Given the description of an element on the screen output the (x, y) to click on. 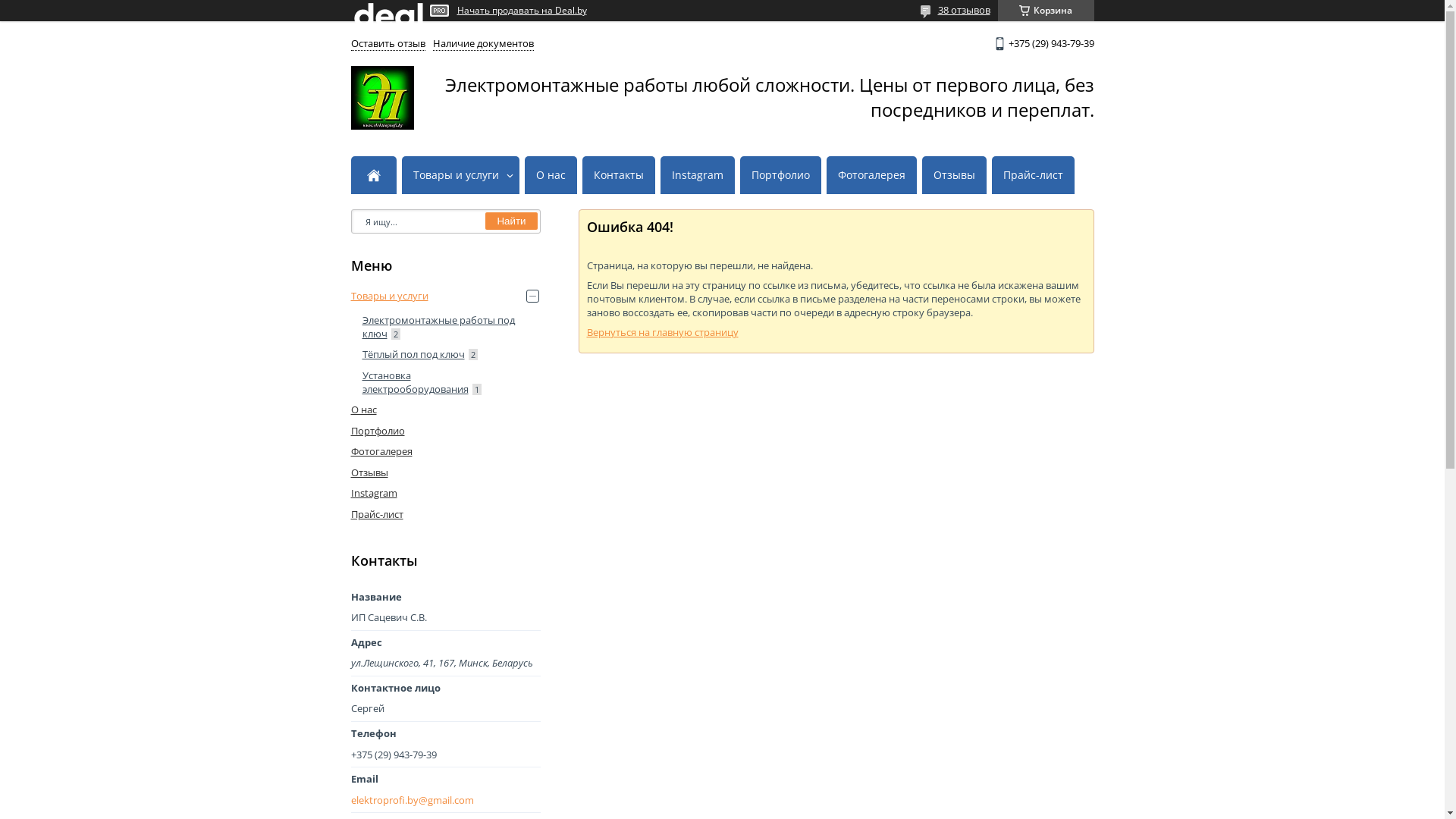
Instagram Element type: text (373, 492)
Instagram Element type: text (696, 175)
elektroprofi.by@gmail.com Element type: text (444, 800)
